Given the description of an element on the screen output the (x, y) to click on. 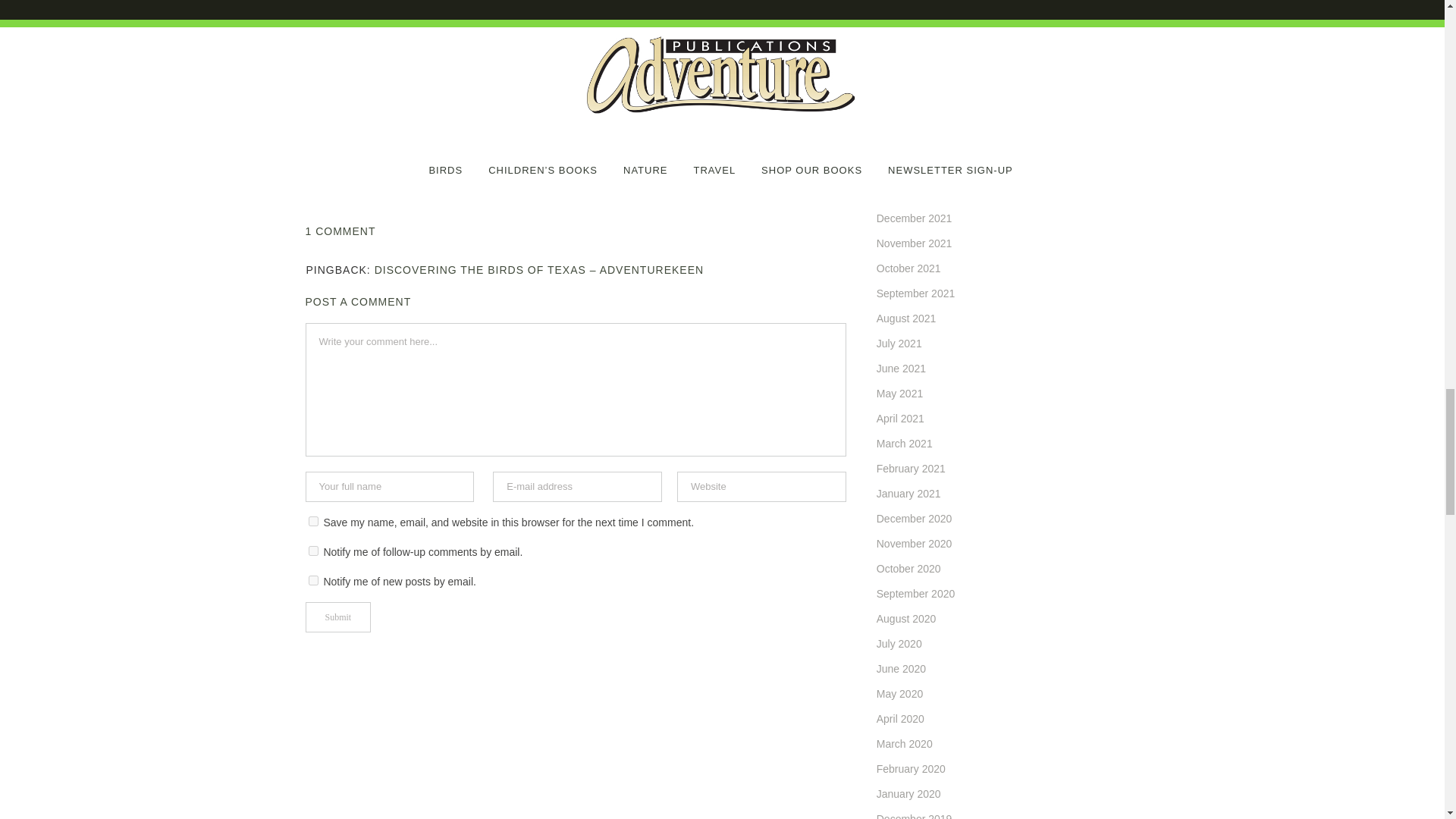
Submit (337, 616)
Birding (382, 17)
yes (312, 521)
Birds (437, 17)
subscribe (312, 580)
Submit (337, 616)
Reply (833, 271)
Birds Of Texas (506, 17)
Stan Tekiela (590, 17)
subscribe (312, 551)
